Given the description of an element on the screen output the (x, y) to click on. 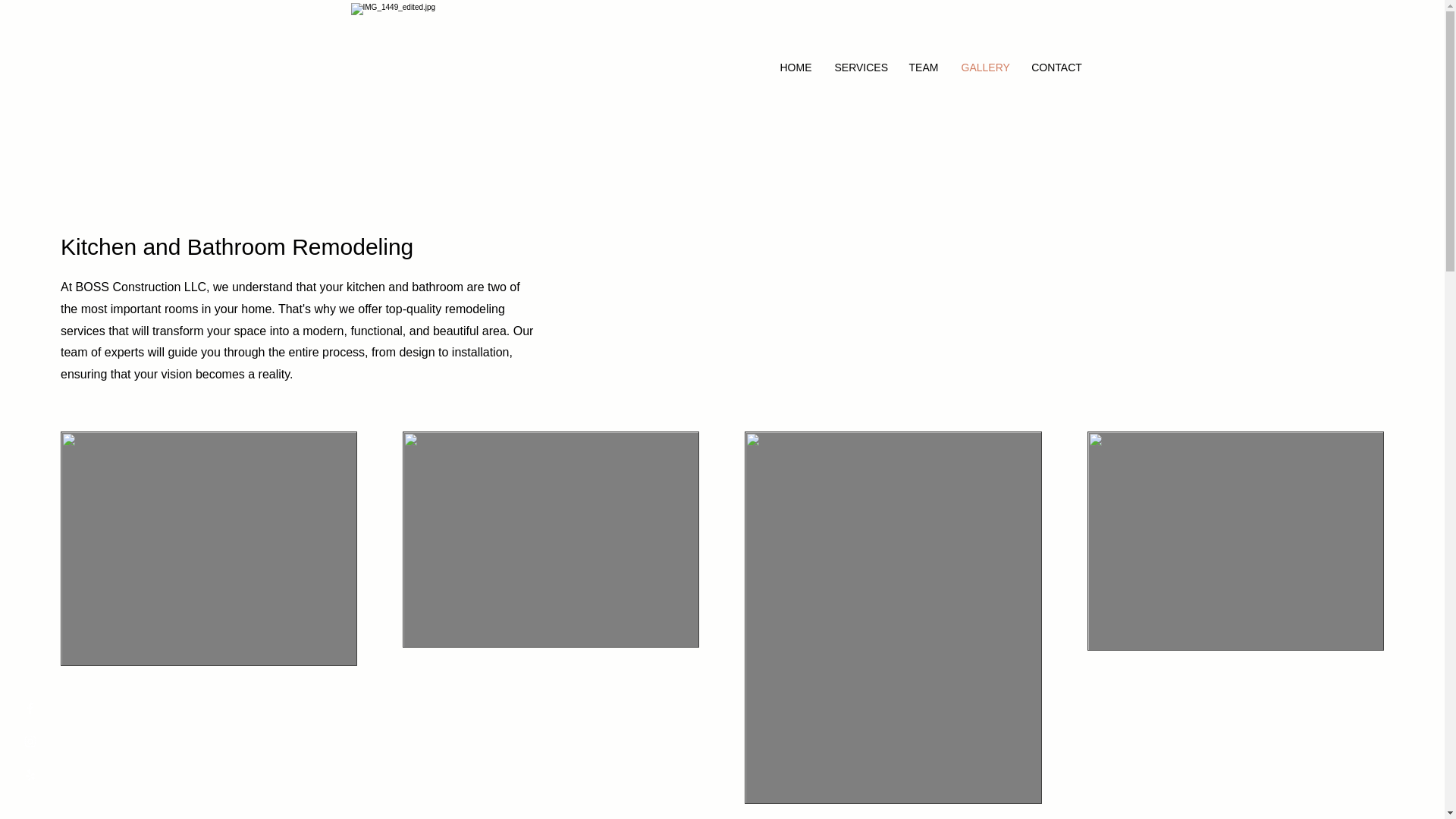
GALLERY (984, 67)
SERVICES (861, 67)
CONTACT (1056, 67)
TEAM (924, 67)
HOME (796, 67)
